Given the description of an element on the screen output the (x, y) to click on. 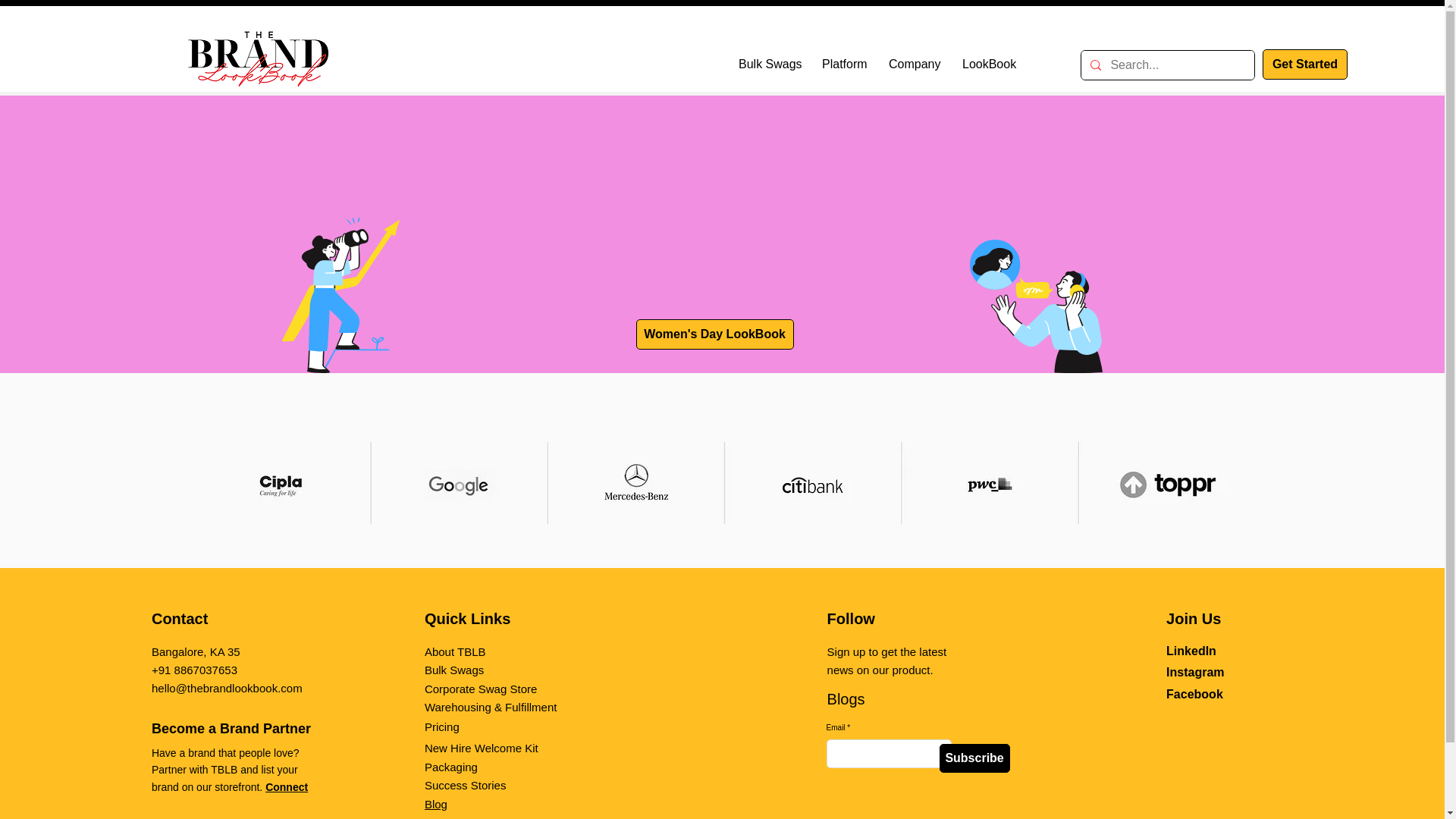
New Hire Welcome Kit (481, 748)
Blogs (845, 699)
Instagram (1195, 671)
LinkedIn (1190, 650)
Corporate Swag Store (481, 688)
Platform (843, 64)
Subscribe (974, 758)
Blog (435, 803)
Women's Day LookBook (713, 334)
Get Started (1305, 64)
